Given the description of an element on the screen output the (x, y) to click on. 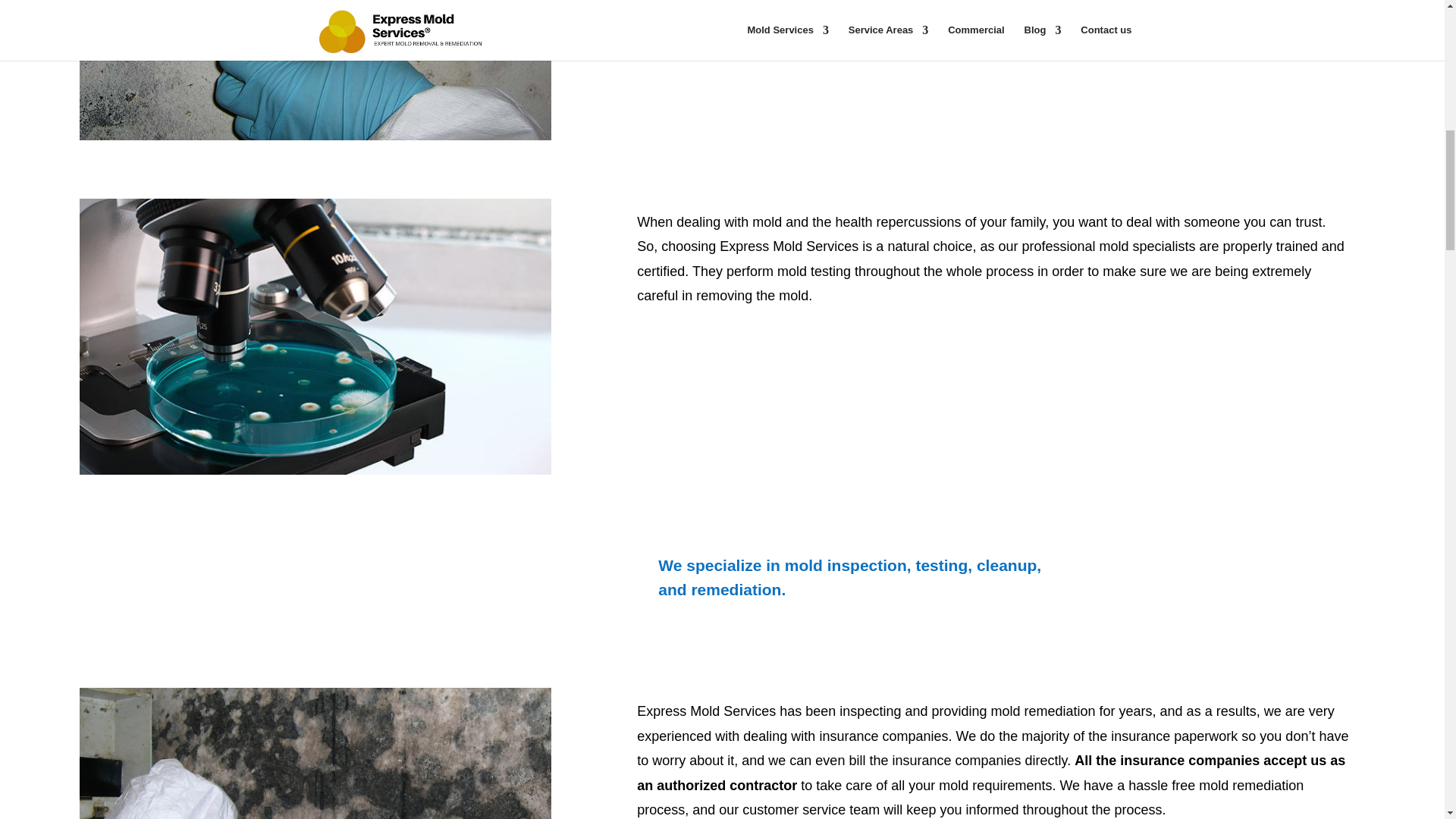
Mold Testing South Florida (315, 337)
Mold Removal (315, 753)
Mold Testing (315, 70)
